Given the description of an element on the screen output the (x, y) to click on. 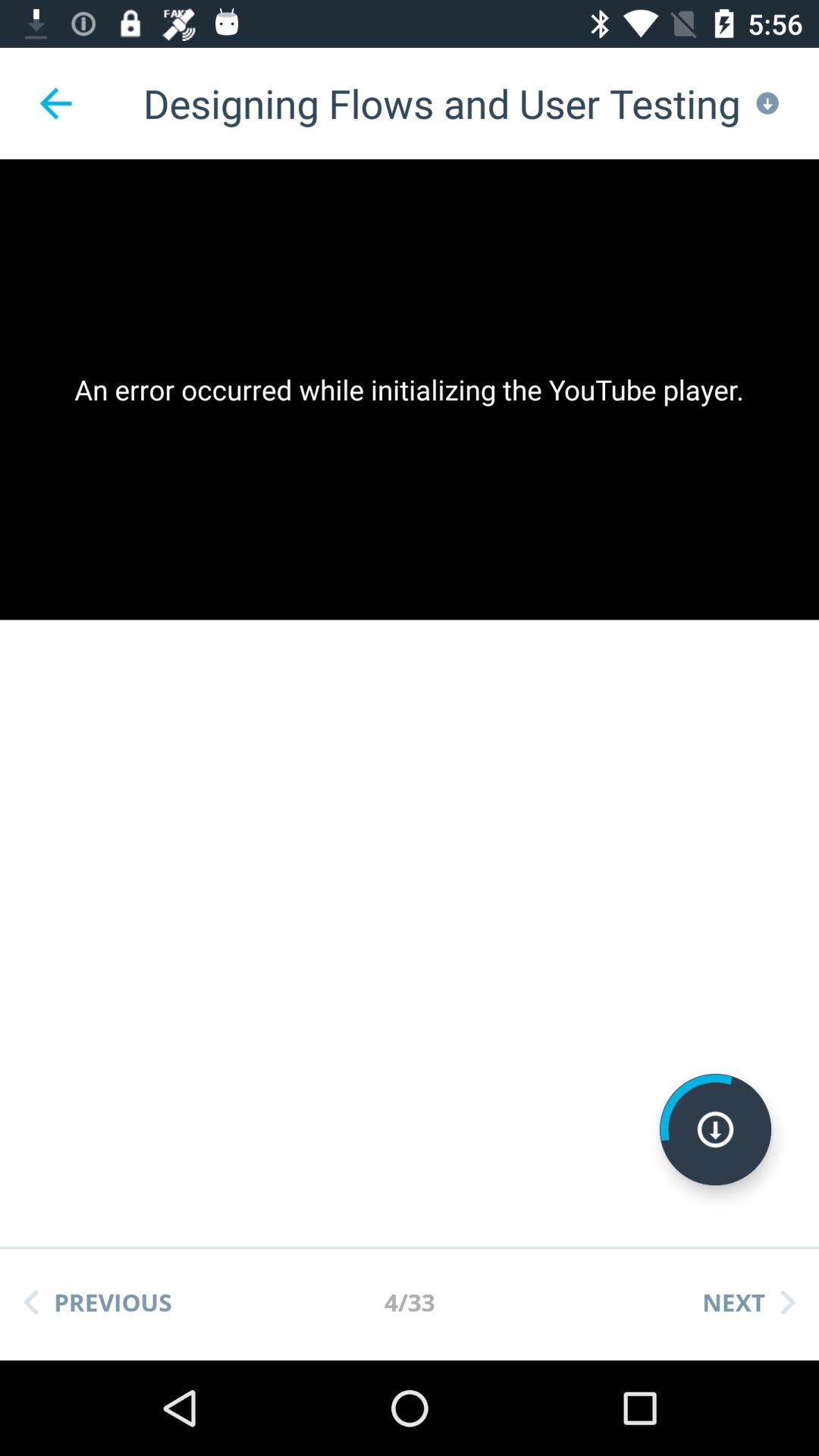
download video (715, 1129)
